Given the description of an element on the screen output the (x, y) to click on. 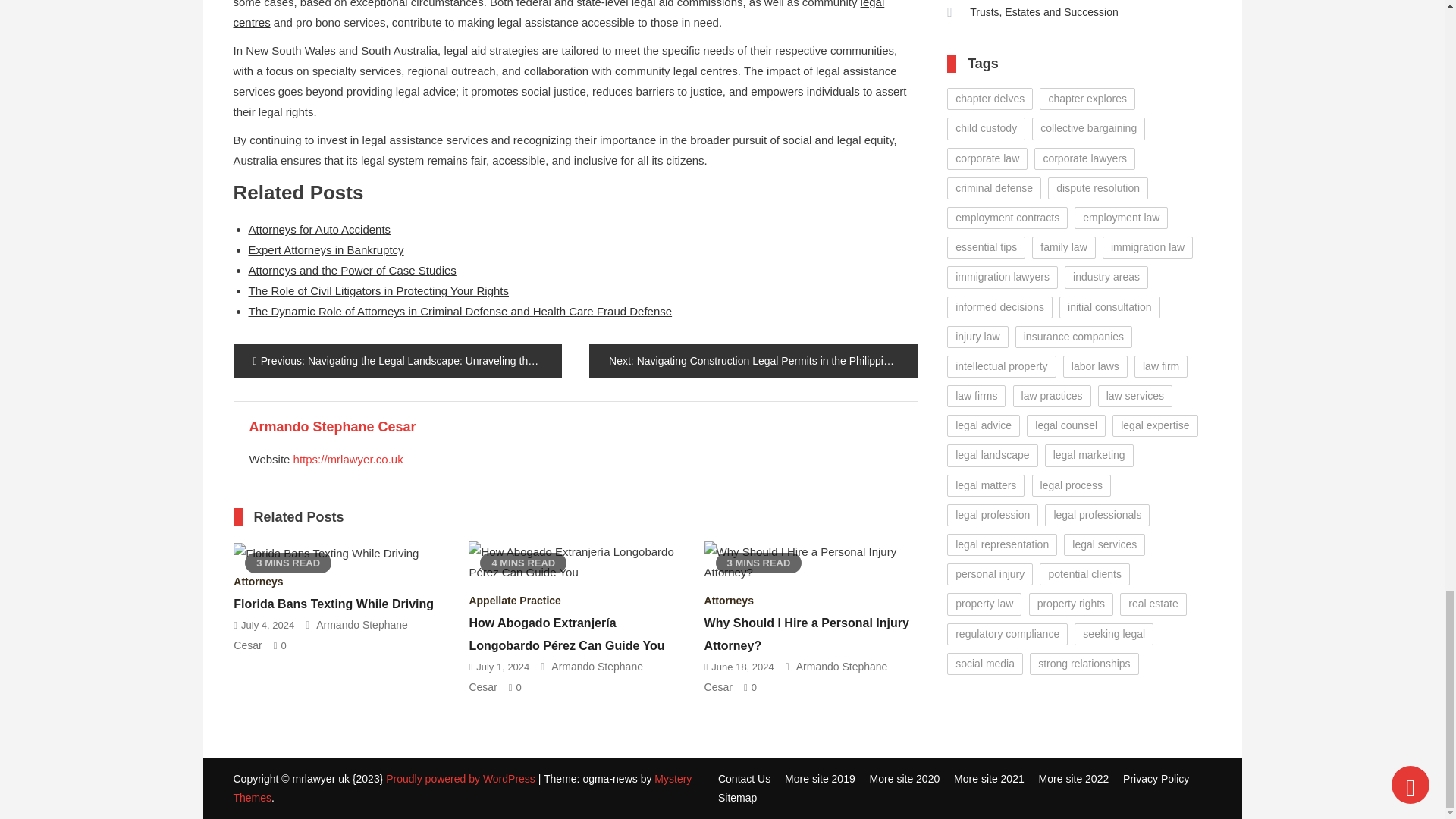
Posts by Armando Stephane Cesar (331, 426)
